Given the description of an element on the screen output the (x, y) to click on. 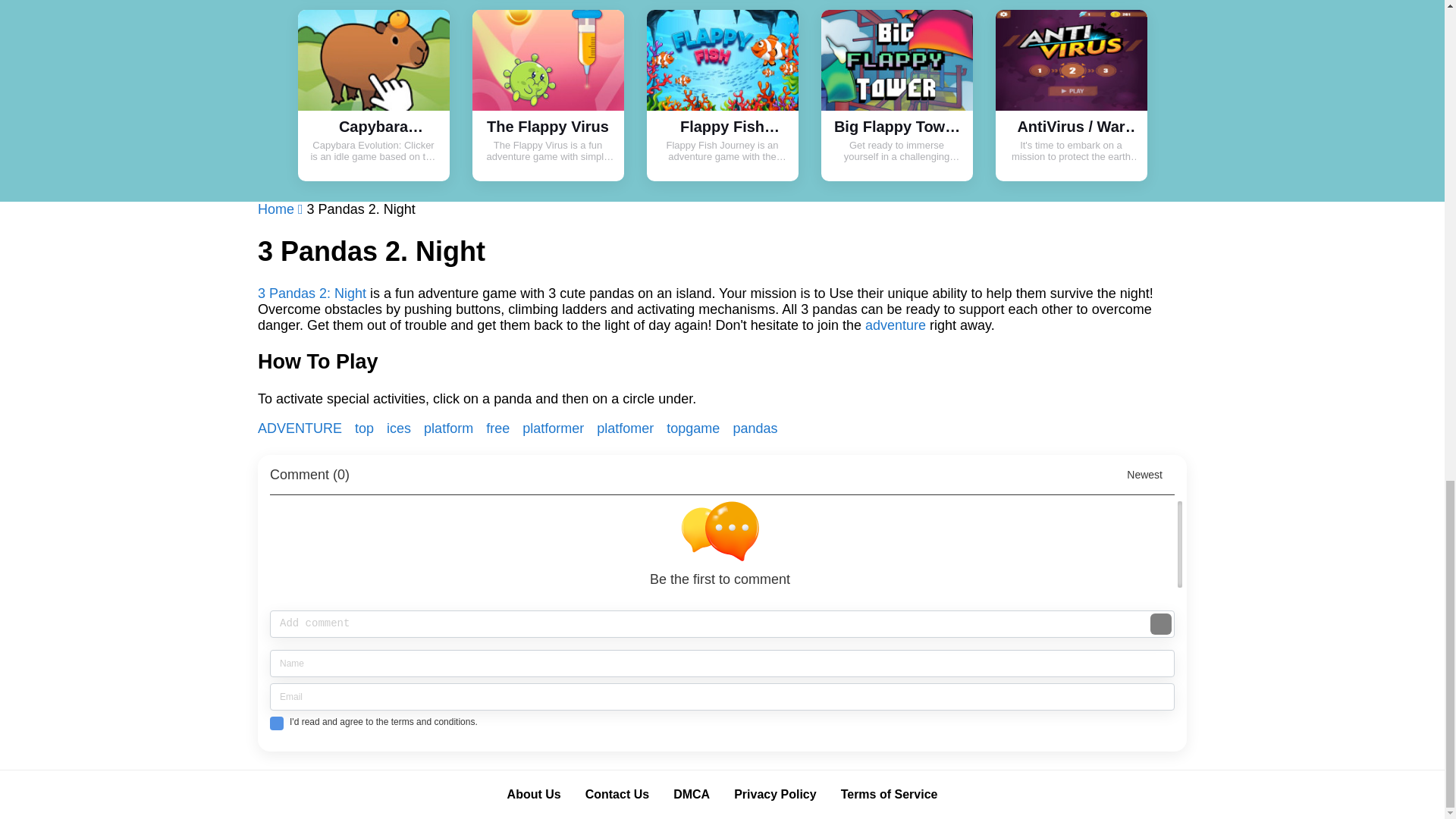
platformer (555, 427)
pandas (301, 427)
adventure (895, 324)
FREE (499, 427)
platfomer (627, 427)
3 Pandas 2: Night (311, 293)
TOP (366, 427)
platfomer (627, 427)
pandas (754, 427)
ADVENTURE (301, 427)
topgame (694, 427)
Newest (1150, 482)
platform (450, 427)
ices (400, 427)
free (499, 427)
